Given the description of an element on the screen output the (x, y) to click on. 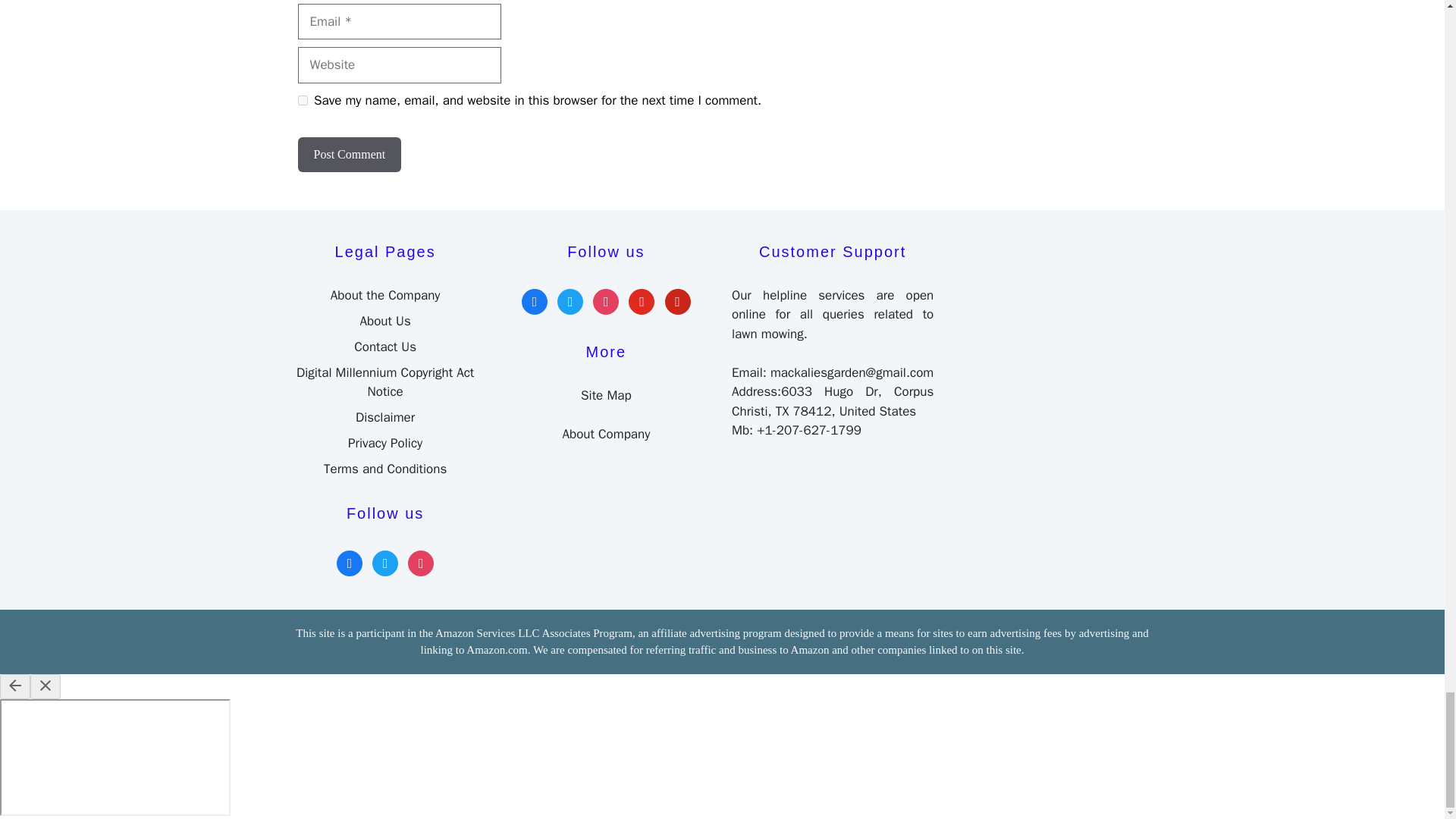
Post Comment (349, 154)
Post Comment (349, 154)
yes (302, 100)
